Given the description of an element on the screen output the (x, y) to click on. 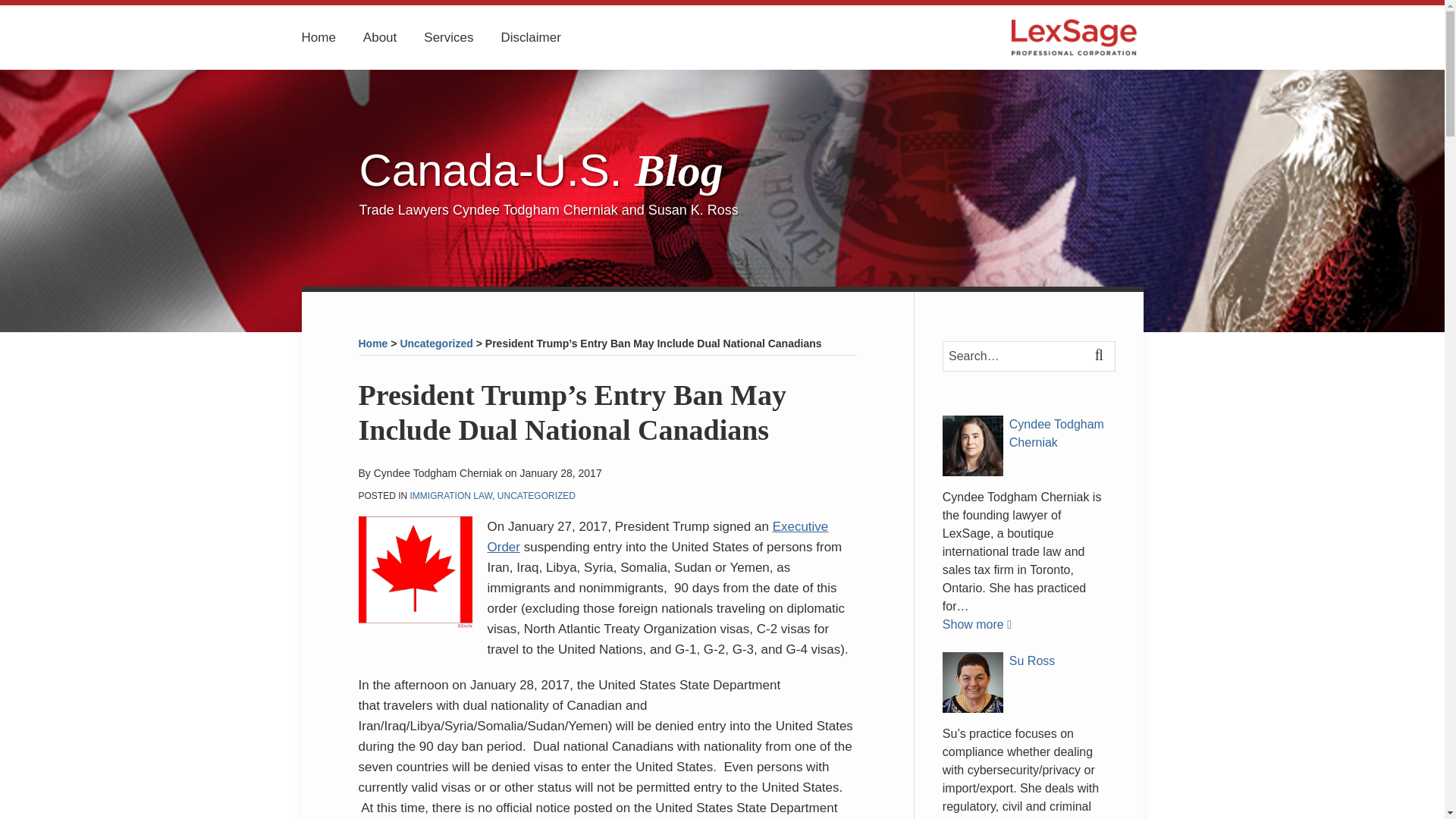
Home (372, 343)
IMMIGRATION LAW (451, 495)
Uncategorized (434, 343)
Canada-U.S. Blog (541, 169)
Executive Order (657, 536)
UNCATEGORIZED (536, 495)
SEARCH (1101, 356)
Su Ross (1028, 660)
Home (318, 37)
Cyndee Todgham Cherniak (1028, 433)
Show more (976, 624)
Services (448, 37)
Disclaimer (530, 37)
About (379, 37)
